Given the description of an element on the screen output the (x, y) to click on. 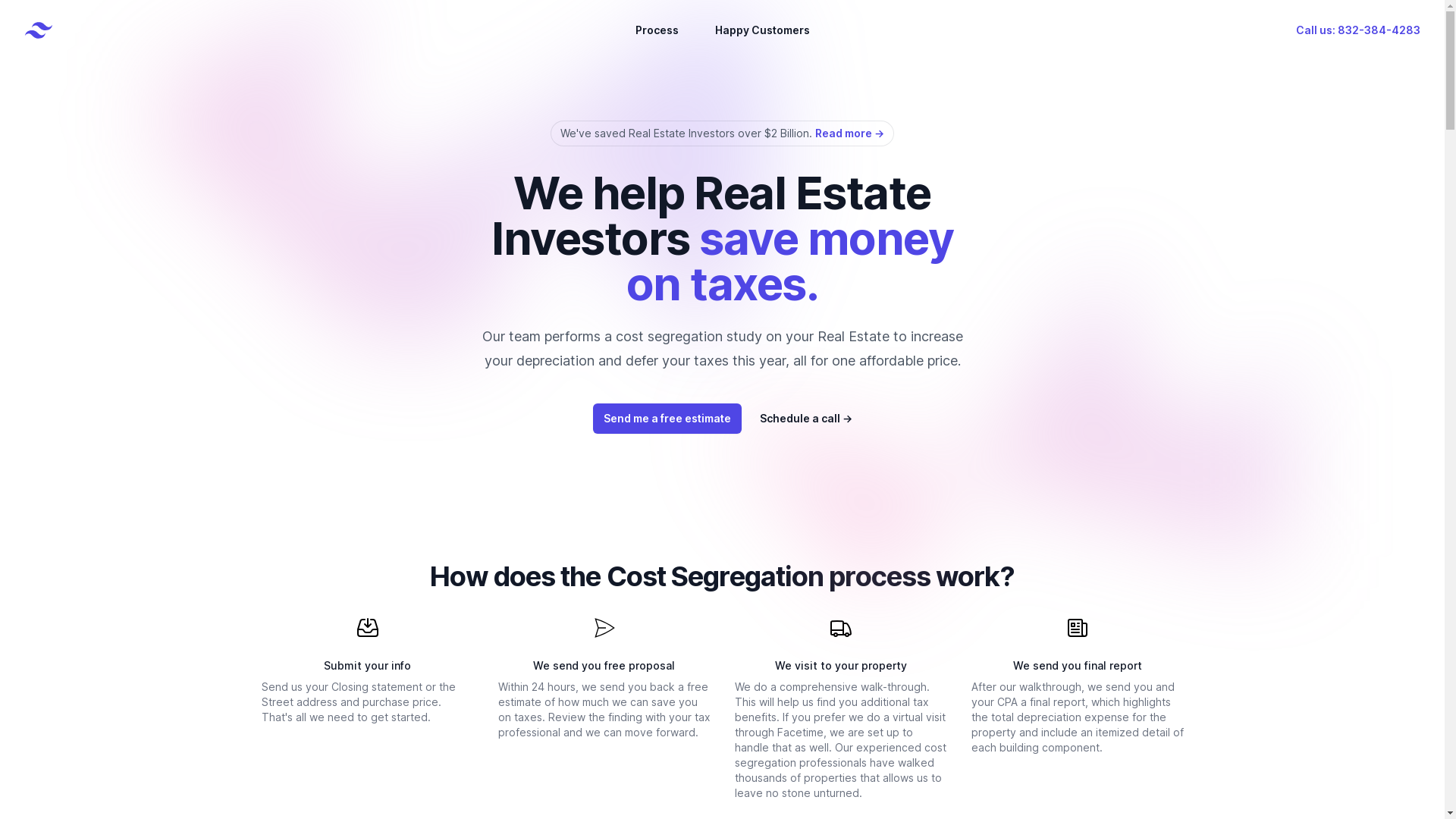
Your Company Element type: text (38, 30)
Happy Customers Element type: text (761, 30)
Call us: 832-384-4283 Element type: text (1357, 30)
Process Element type: text (656, 30)
Send me a free estimate Element type: text (667, 418)
